Given the description of an element on the screen output the (x, y) to click on. 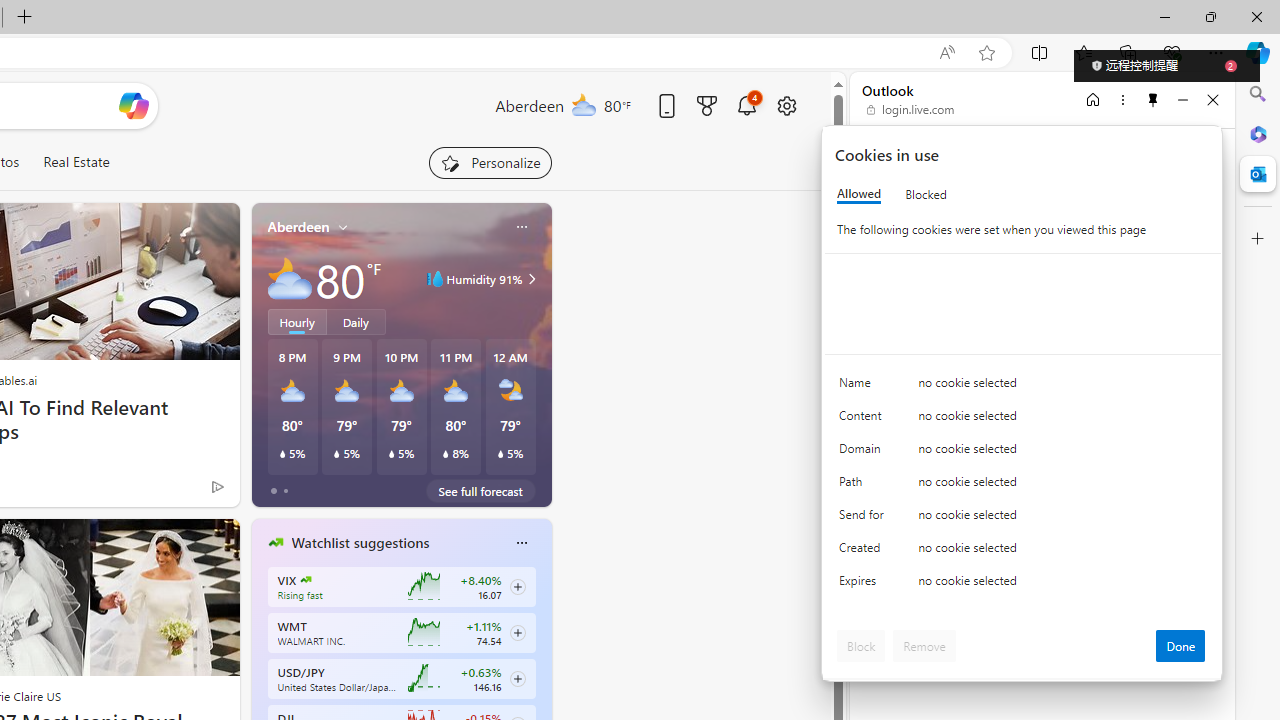
Send for (864, 518)
Aberdeen (298, 227)
Path (864, 485)
previous (261, 670)
Watchlist suggestions (360, 543)
This story is trending (178, 490)
Mostly cloudy (289, 278)
